Given the description of an element on the screen output the (x, y) to click on. 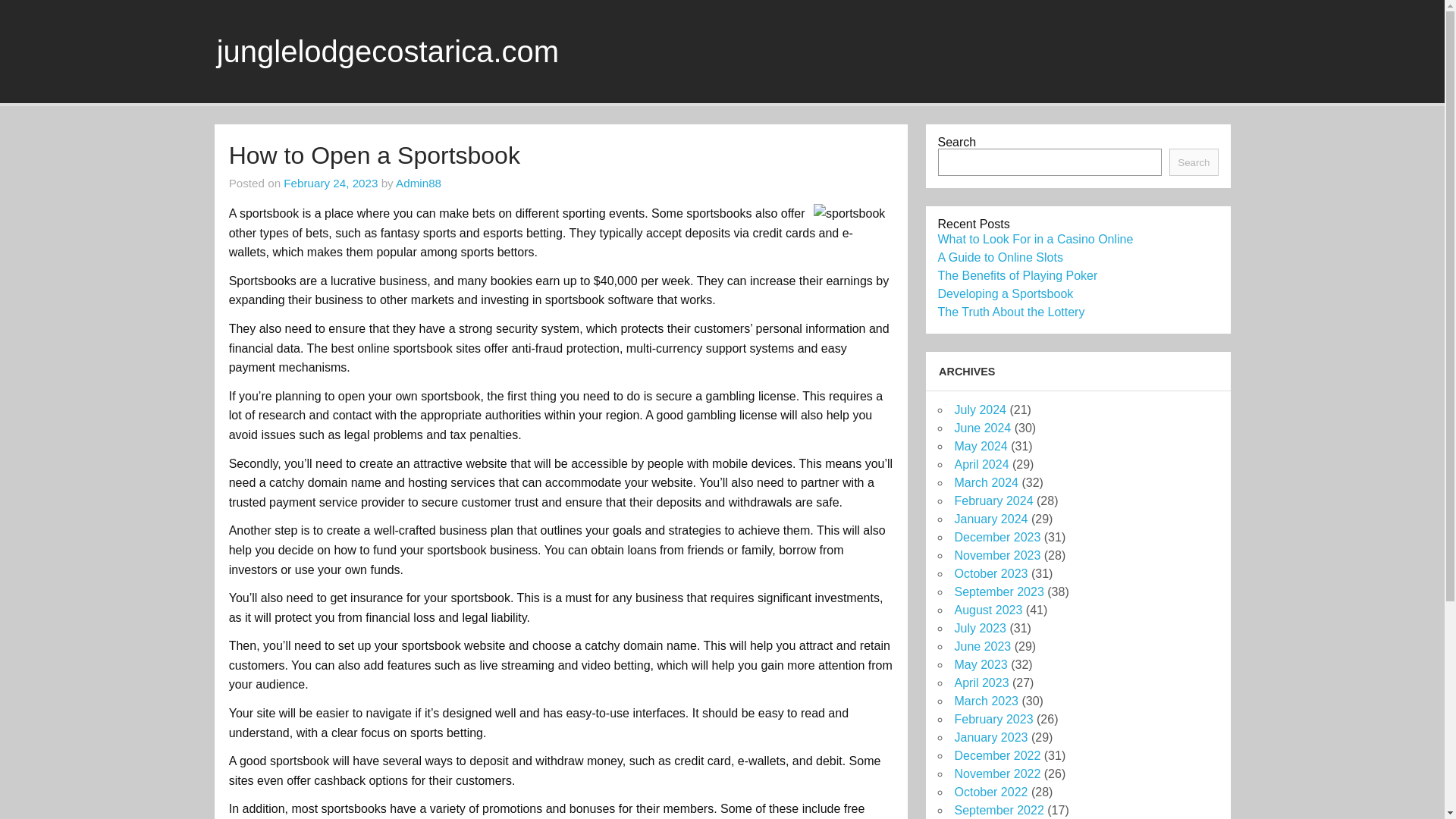
September 2023 (998, 591)
February 2024 (992, 500)
June 2023 (981, 645)
February 24, 2023 (330, 182)
April 2024 (981, 463)
September 2022 (998, 809)
October 2023 (990, 573)
November 2022 (997, 773)
March 2023 (985, 700)
The Truth About the Lottery (1010, 311)
May 2024 (980, 445)
junglelodgecostarica.com (387, 51)
April 2023 (981, 682)
Admin88 (418, 182)
Search (1193, 162)
